Given the description of an element on the screen output the (x, y) to click on. 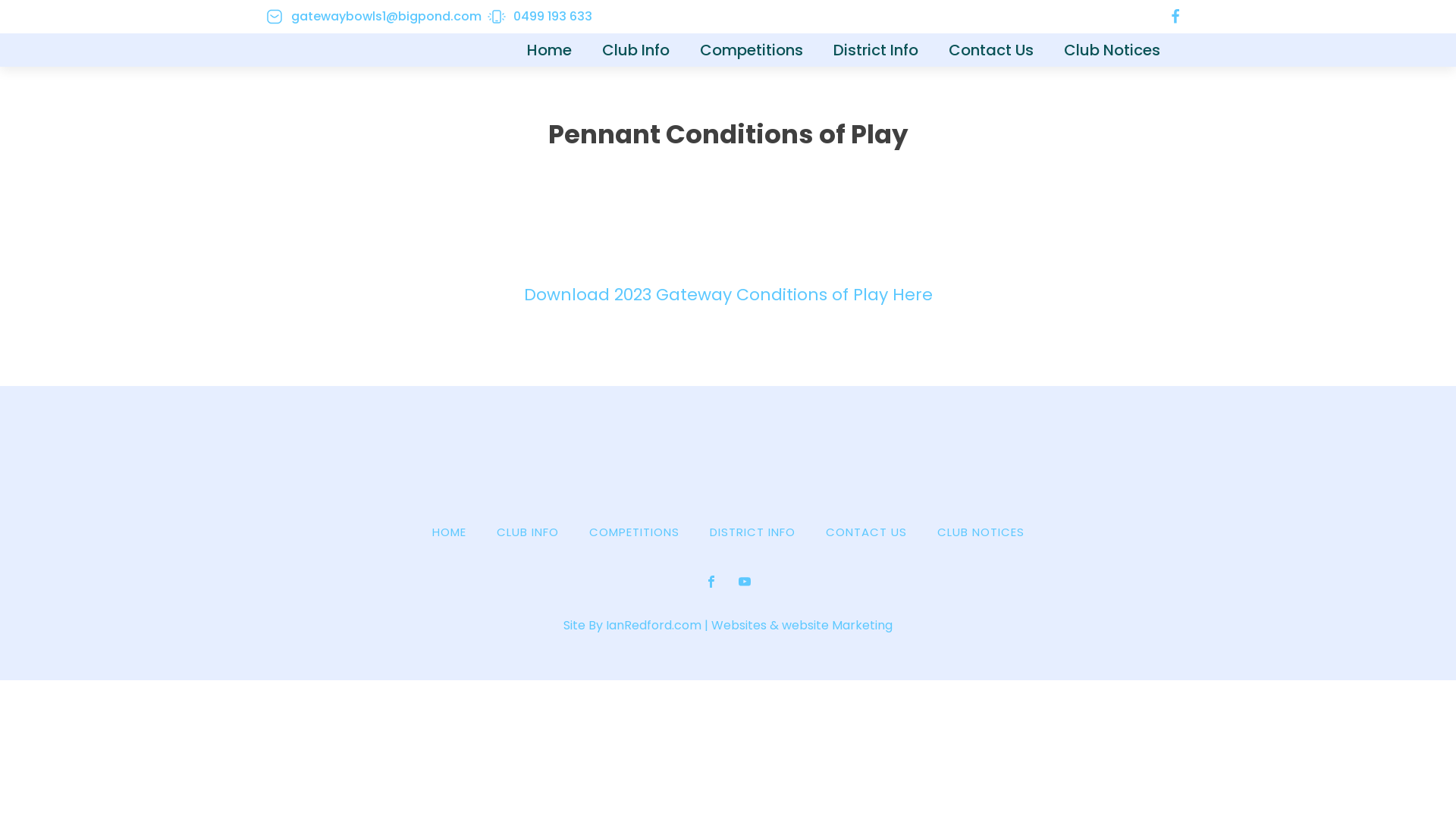
Club Info Element type: text (635, 49)
Site By IanRedford.com | Websites & website Marketing Element type: text (727, 625)
HOME Element type: text (449, 532)
Download 2023 Gateway Conditions of Play Here Element type: text (727, 294)
COMPETITIONS Element type: text (633, 532)
Competitions Element type: text (751, 49)
DISTRICT INFO Element type: text (752, 532)
0499 193 633 Element type: text (539, 16)
CONTACT US Element type: text (865, 532)
gatewaybowls1@bigpond.com Element type: text (373, 16)
Contact Us Element type: text (990, 49)
CLUB INFO Element type: text (526, 532)
Home Element type: text (548, 49)
Club Notices Element type: text (1111, 49)
District Info Element type: text (875, 49)
CLUB NOTICES Element type: text (980, 532)
